Given the description of an element on the screen output the (x, y) to click on. 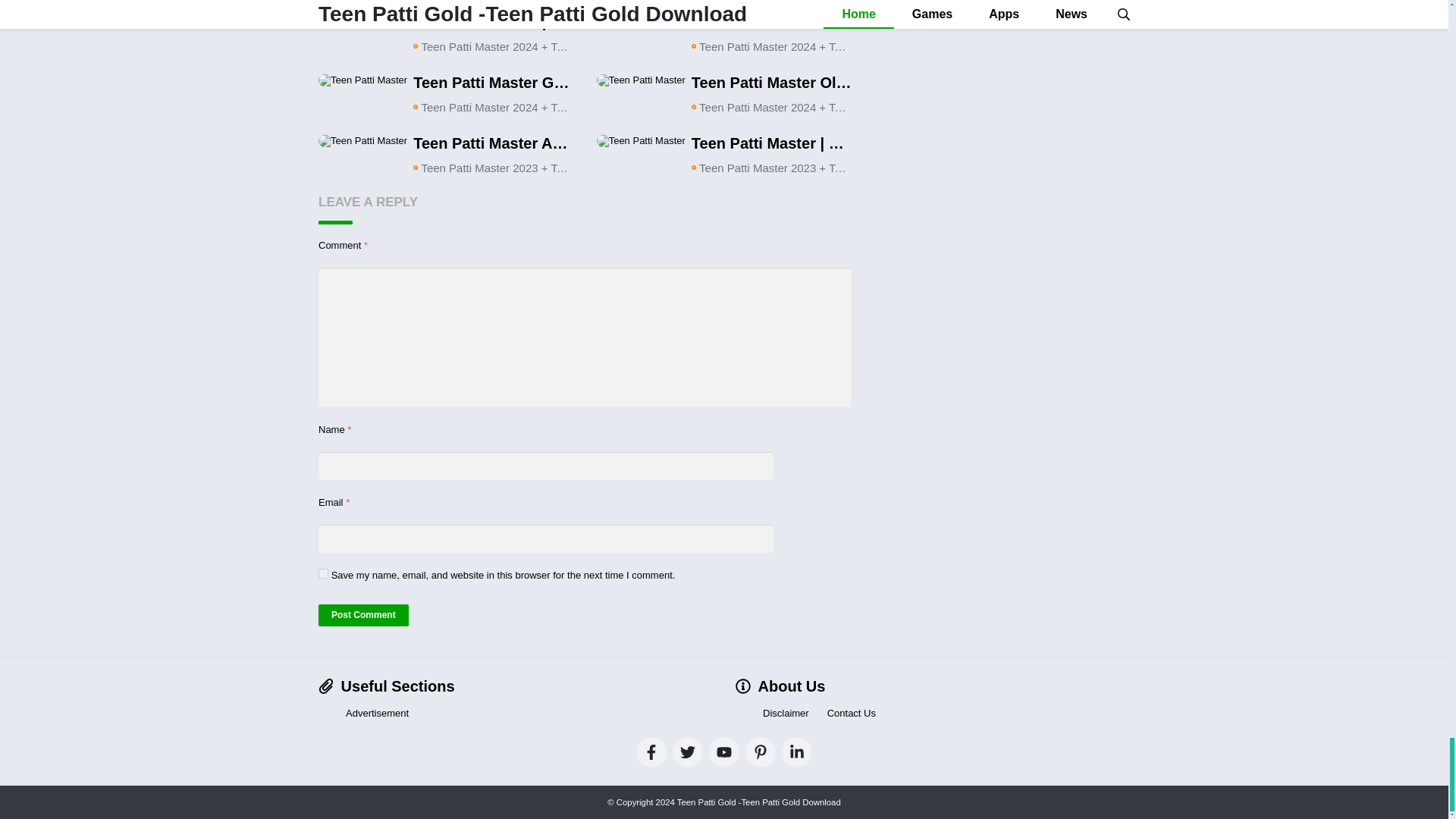
Post Comment (363, 615)
yes (323, 573)
